Given the description of an element on the screen output the (x, y) to click on. 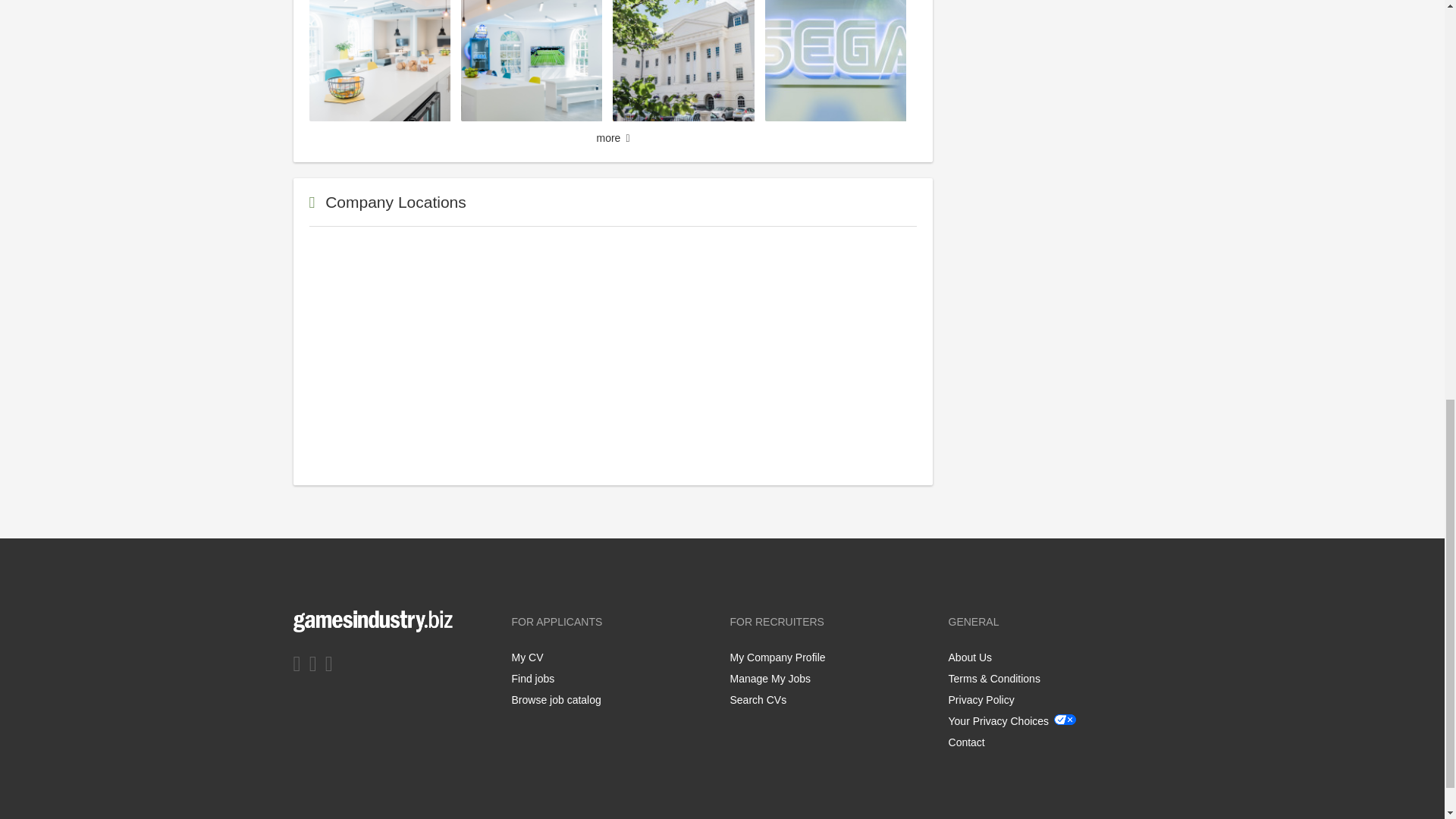
My CV (527, 657)
Find jobs (532, 678)
